Given the description of an element on the screen output the (x, y) to click on. 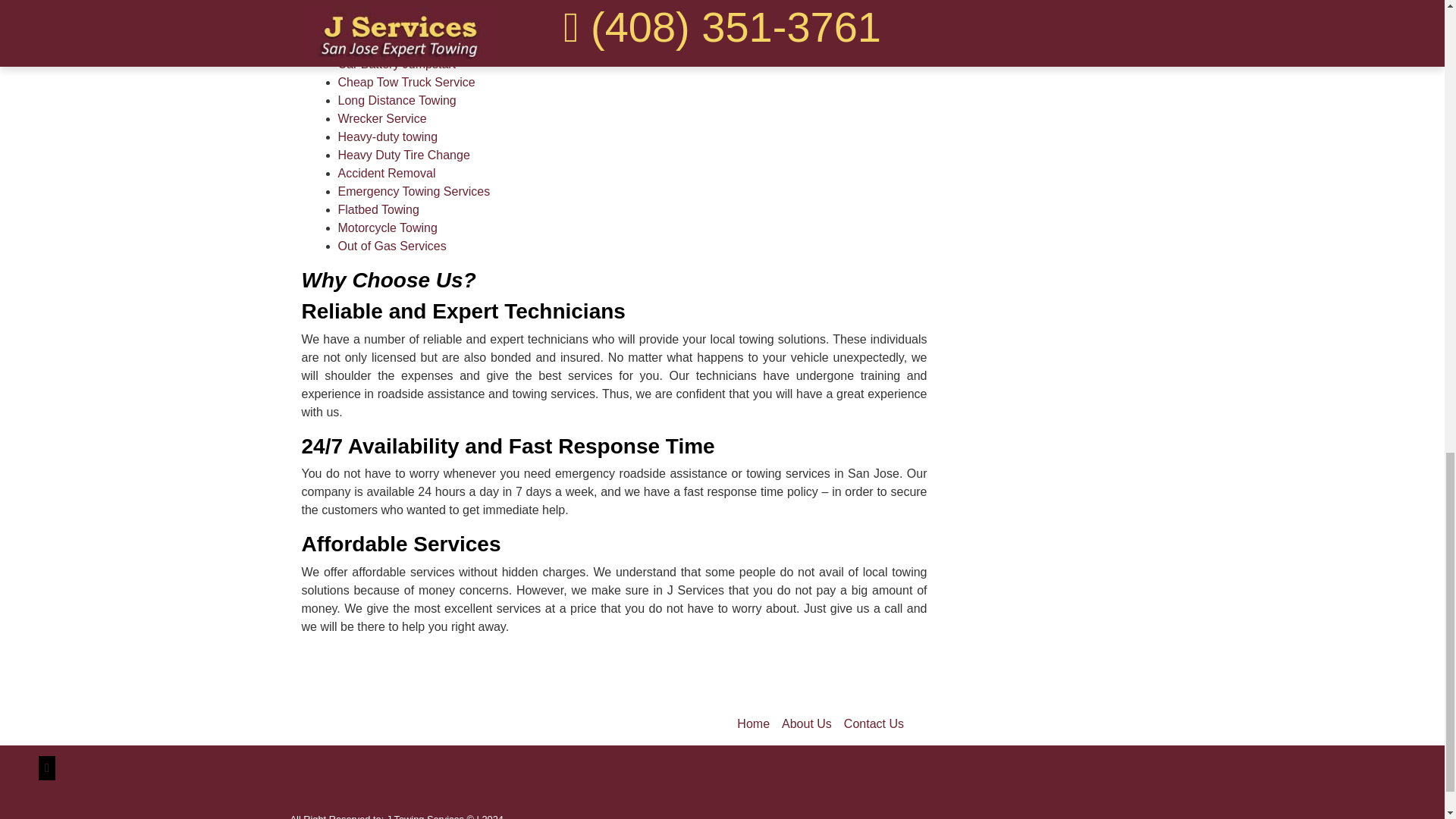
Towing Services (381, 27)
Out of Gas Services (391, 245)
Heavy-duty towing (387, 136)
Contact Us (874, 724)
Heavy Duty Tire Change (403, 154)
Home (753, 724)
Cheap Tow Truck Service (406, 82)
Wrecker Service (381, 118)
Wrecker Services (381, 118)
Contact Us (874, 724)
Accident Removal  (388, 173)
Unlock car door (380, 45)
Car Battery Jumpstart (397, 63)
Emergency Towing Services (413, 191)
Home (753, 724)
